Given the description of an element on the screen output the (x, y) to click on. 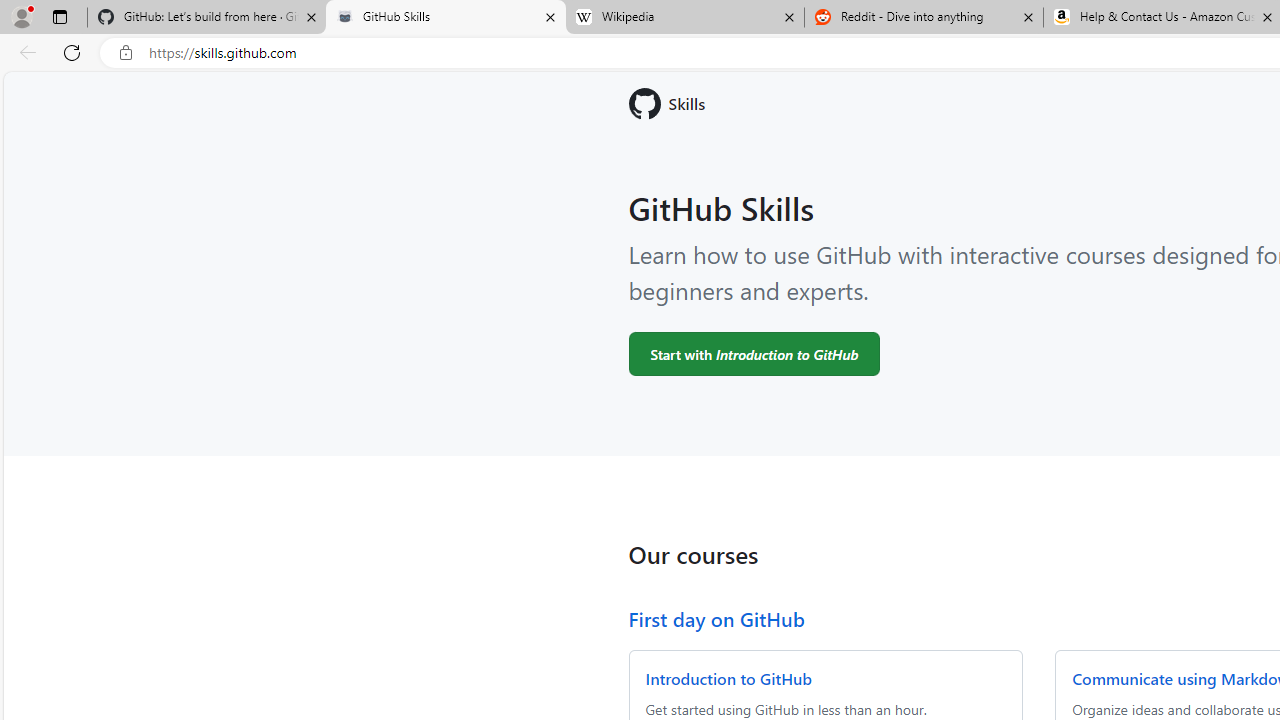
Start with Introduction to GitHub (754, 353)
Introduction to GitHub (728, 678)
First day on GitHub (716, 618)
GitHub Skills (445, 17)
